Given the description of an element on the screen output the (x, y) to click on. 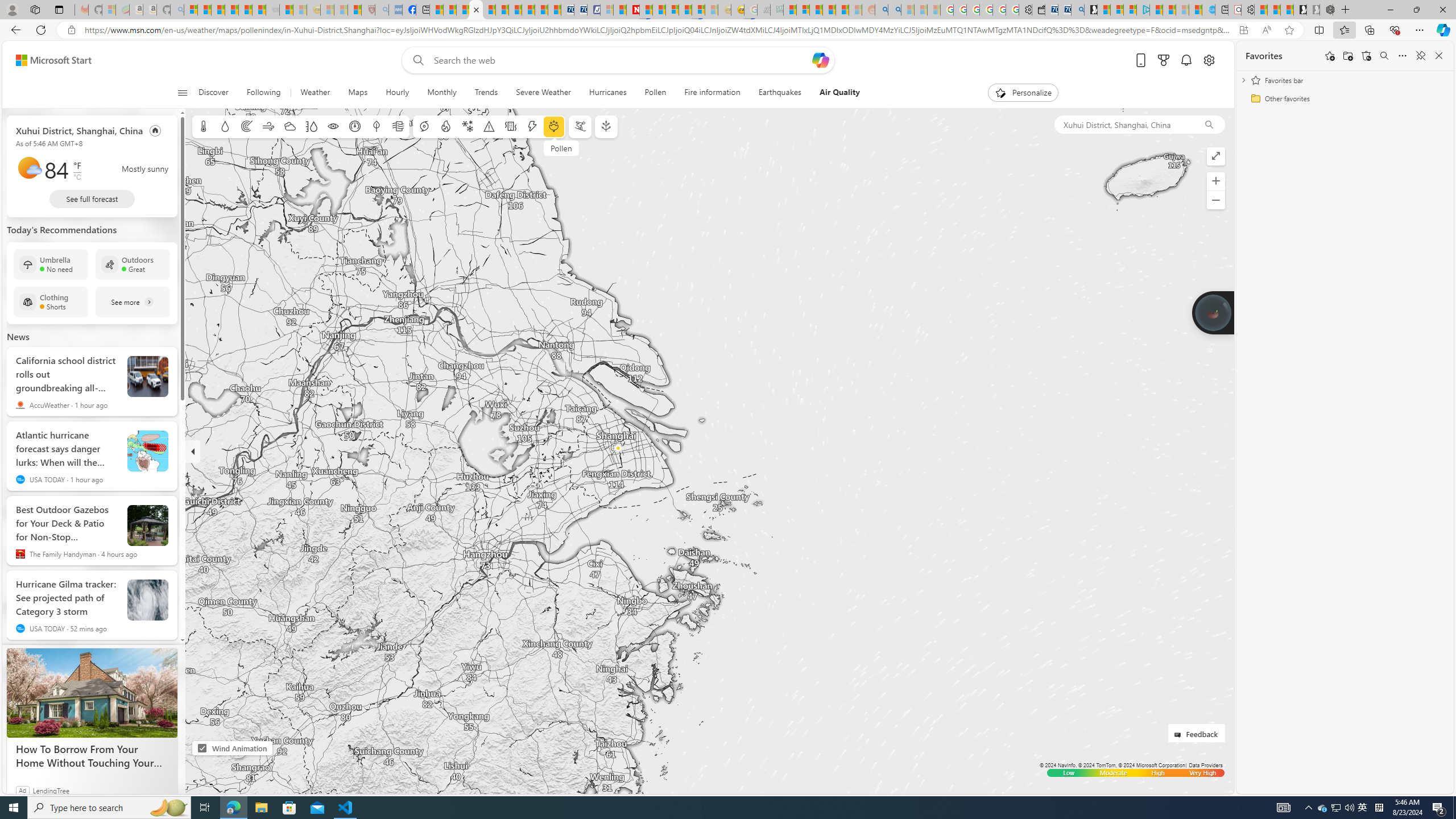
Data Providers (1205, 765)
Restore deleted favorites (1366, 55)
